Given the description of an element on the screen output the (x, y) to click on. 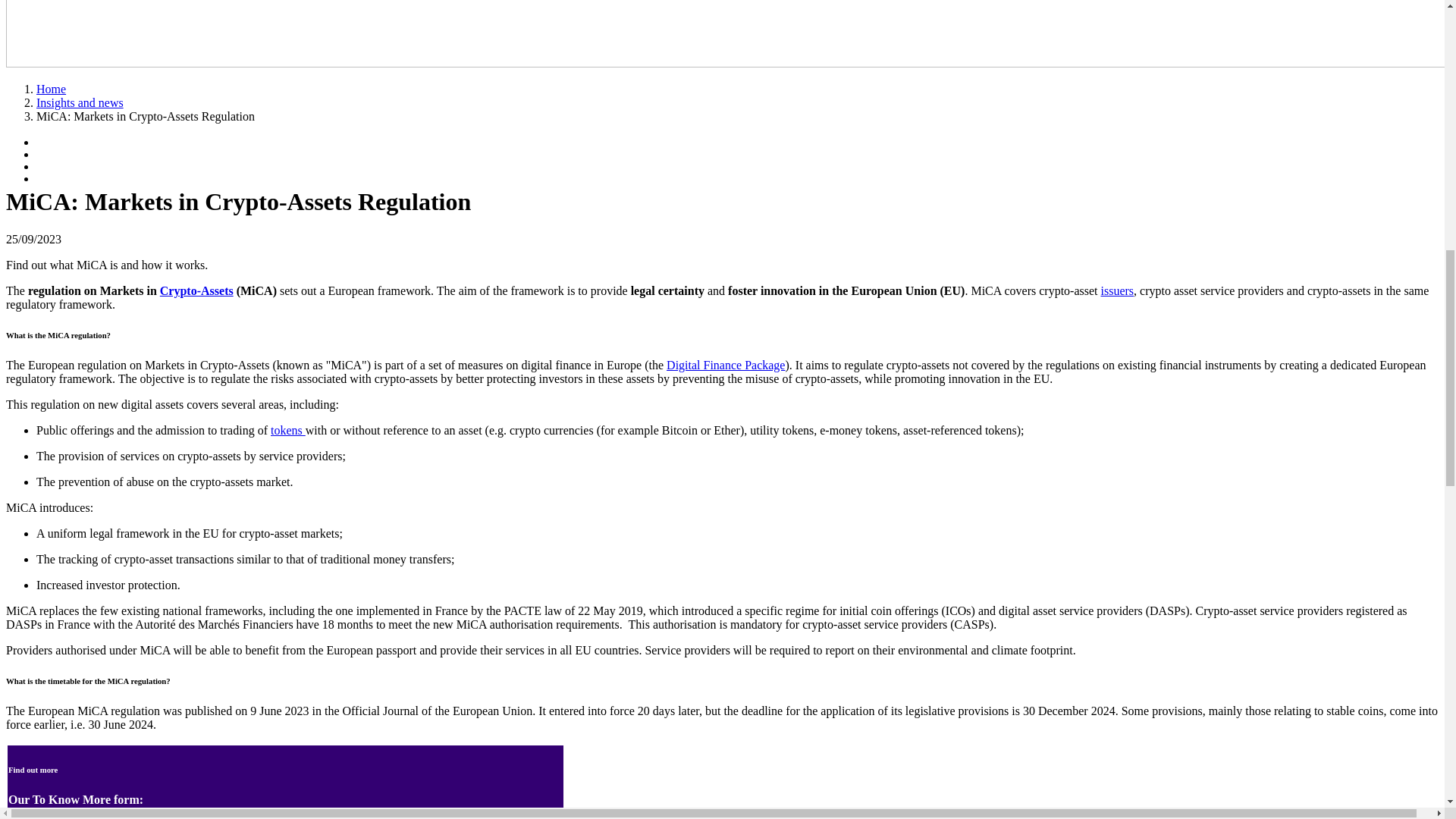
Home (50, 88)
Digital Finance Package (725, 364)
Insights and news (79, 102)
Read the article: Tokenising the world (287, 430)
Issuers (1117, 290)
